Given the description of an element on the screen output the (x, y) to click on. 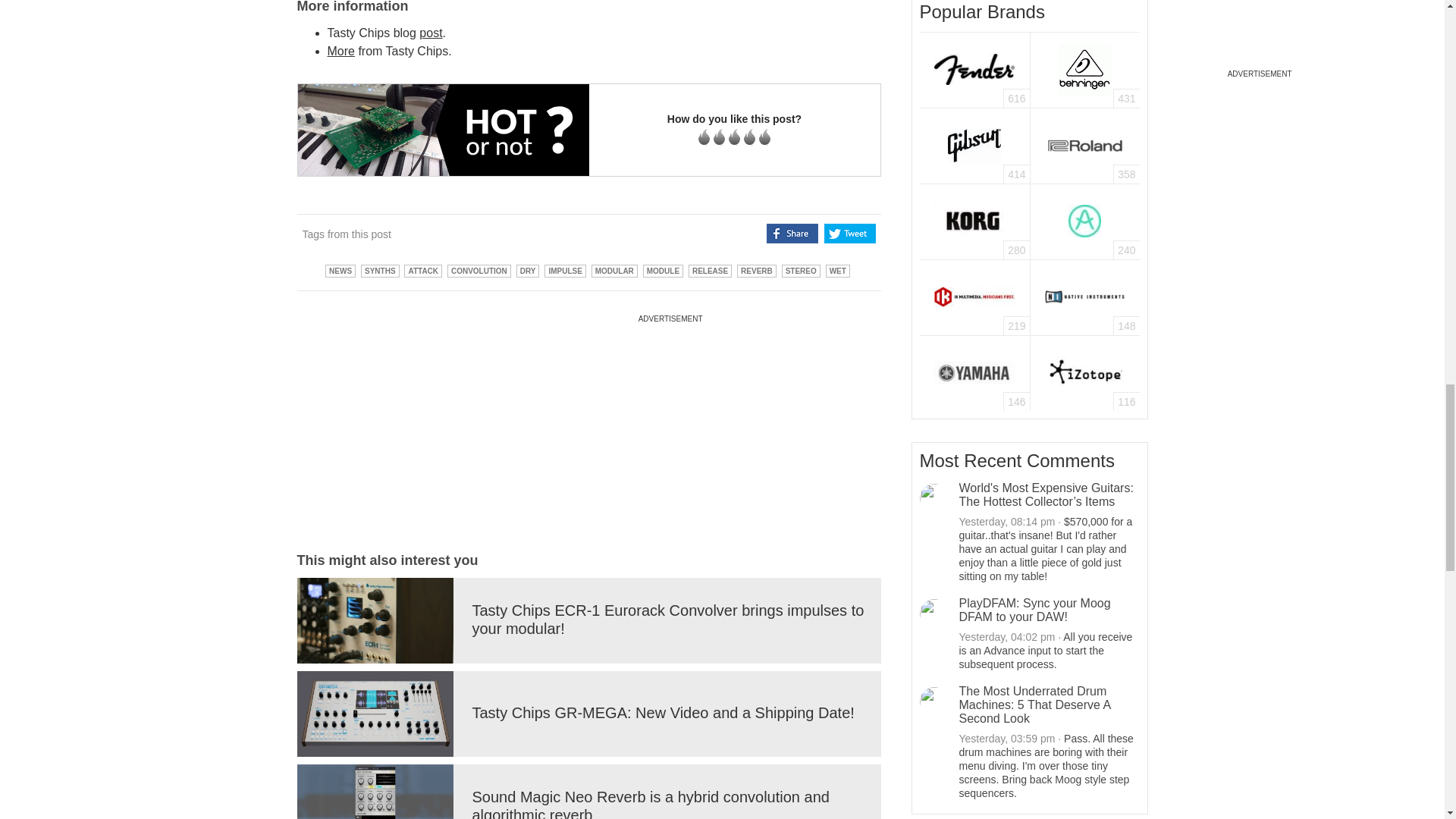
View all Posts in Module (662, 270)
View all Posts in Synths (379, 270)
View all Posts in dry (528, 270)
View all Posts in convolution (478, 270)
View all Posts in reverb (756, 270)
Share on Facebook (791, 233)
View all Posts in Attack (423, 270)
View all Posts in release (710, 270)
View all Posts in Modular (614, 270)
View all Posts in impulse (564, 270)
Share on Twitter (850, 233)
View all Posts in News (339, 270)
